Given the description of an element on the screen output the (x, y) to click on. 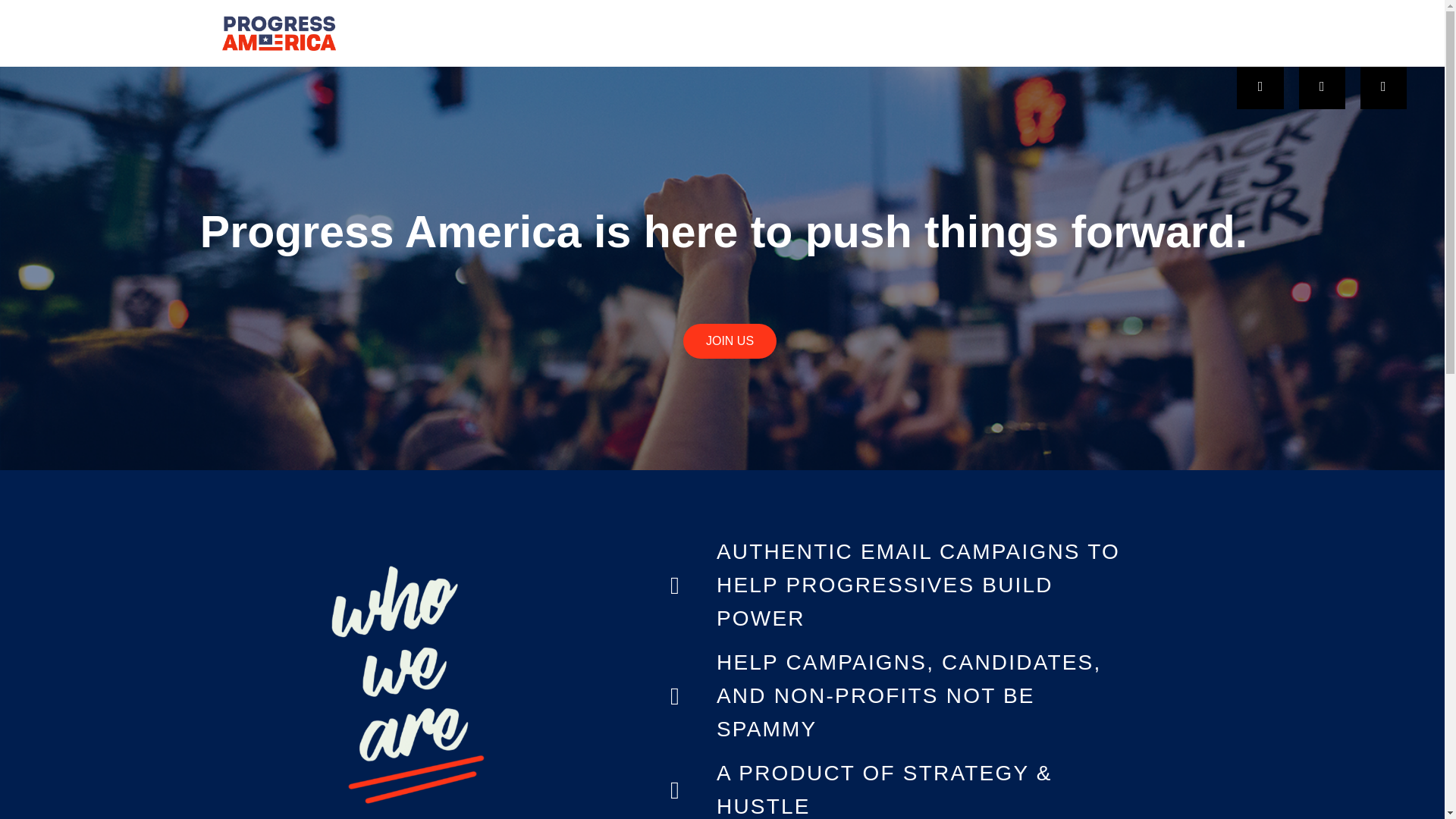
JOIN US (729, 340)
